Given the description of an element on the screen output the (x, y) to click on. 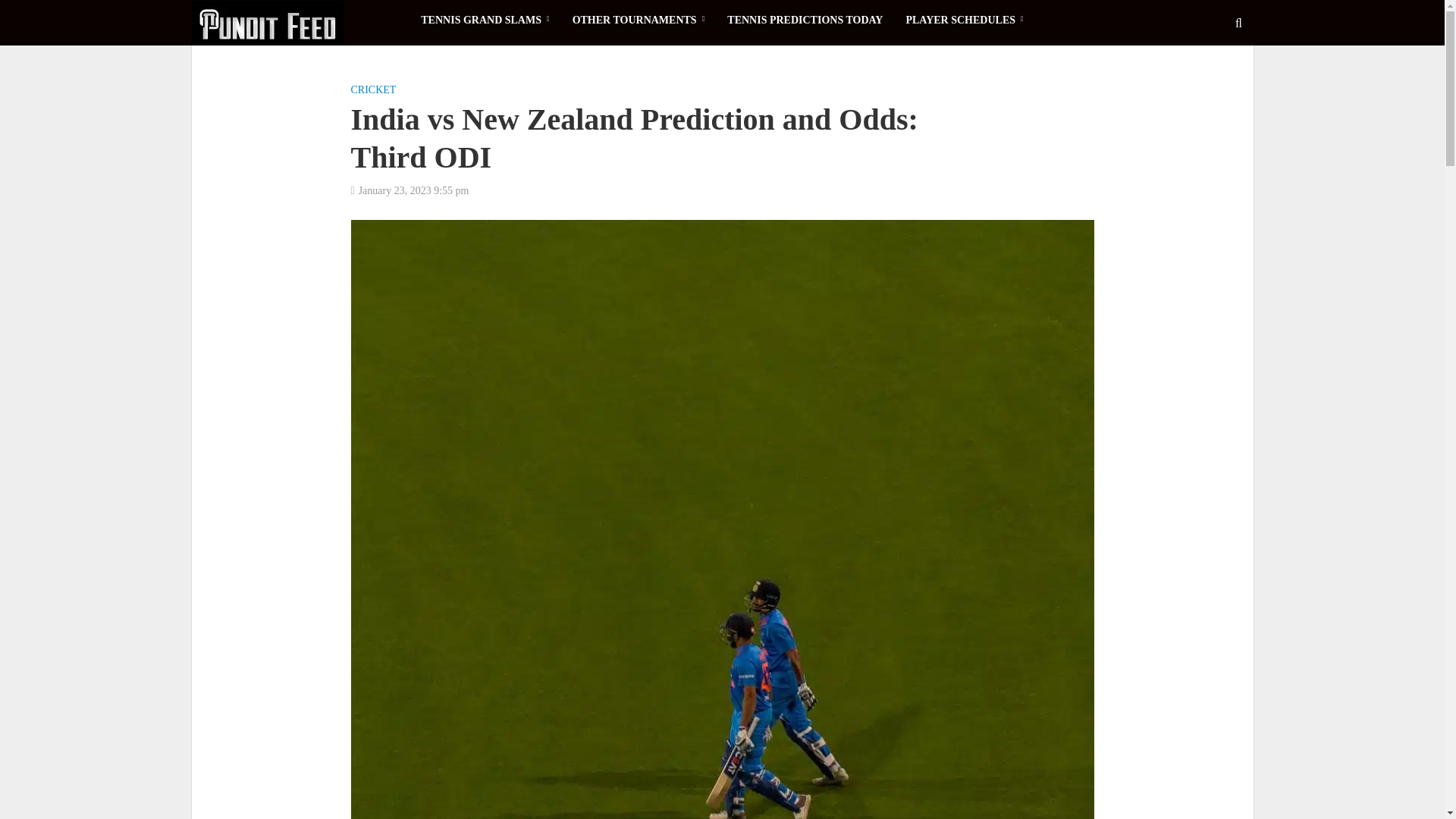
PLAYER SCHEDULES (963, 20)
CRICKET (373, 91)
TENNIS PREDICTIONS TODAY (804, 20)
TENNIS GRAND SLAMS (484, 20)
OTHER TOURNAMENTS (638, 20)
